Given the description of an element on the screen output the (x, y) to click on. 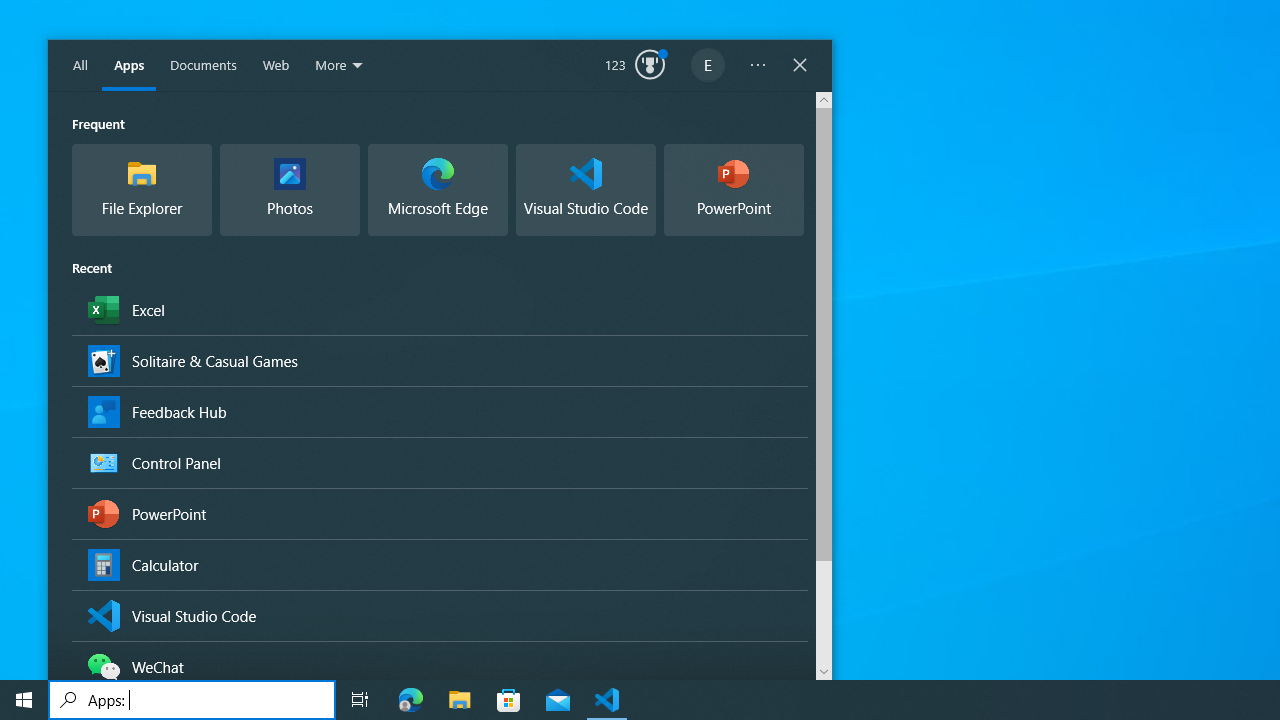
Close Windows Search (799, 65)
Control Panel, App (439, 462)
Options (758, 65)
Visual Studio Code, App (439, 614)
Solitaire & Casual Games, App (439, 359)
Feedback Hub, App (439, 411)
WeChat, App (439, 665)
Microsoft Edge, Microsoft recommended browser (438, 190)
Photos, App (289, 190)
Documents (203, 65)
Frequent Group,File Explorer, App (141, 190)
EugeneLedger601@outlook.com (707, 65)
Microsoft Rewards balance: 123 (635, 65)
Apps (129, 65)
